Given the description of an element on the screen output the (x, y) to click on. 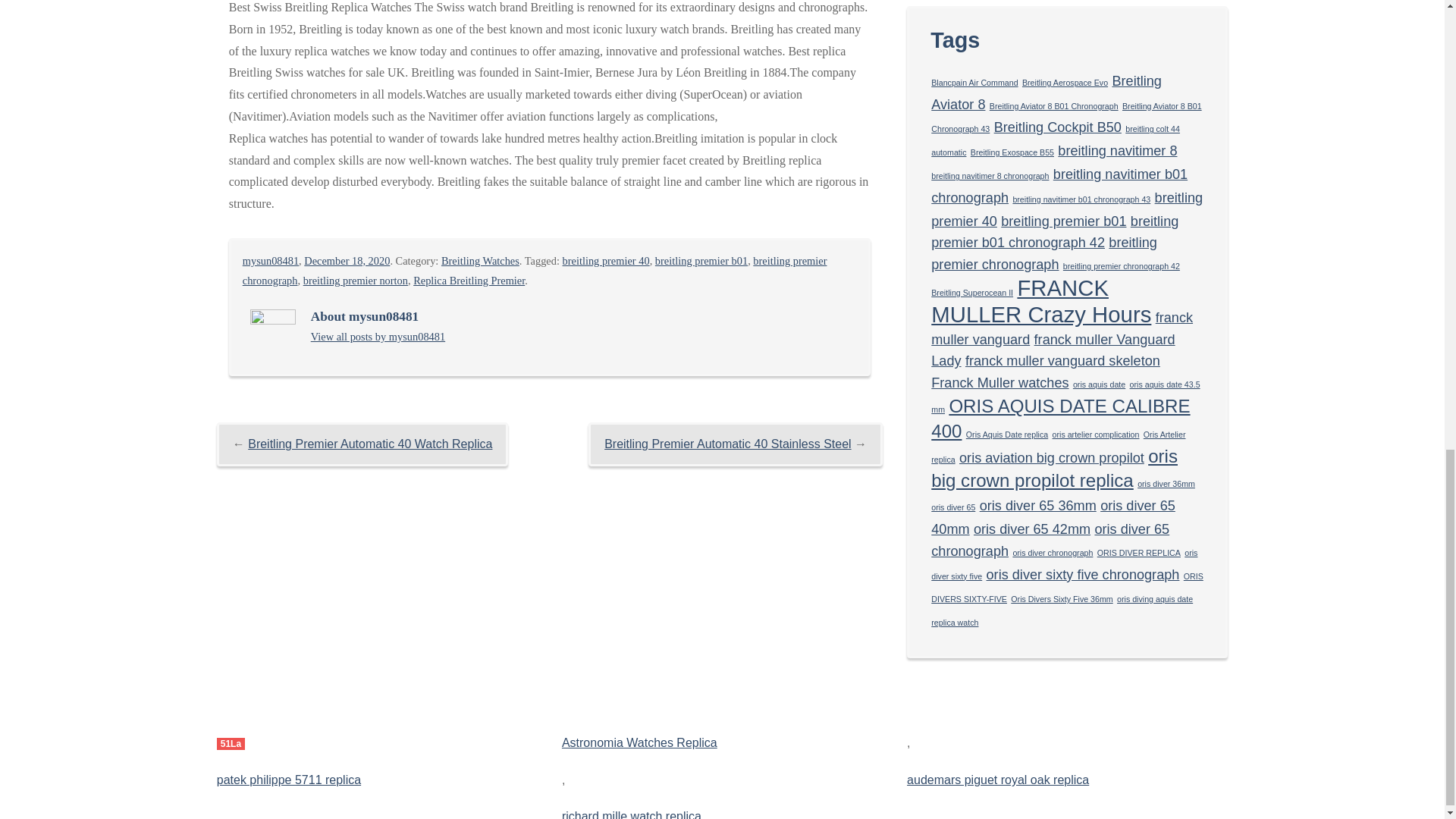
Replica Breitling Premier (468, 280)
December 18, 2020 (347, 260)
mysun08481 (270, 260)
breitling premier b01 (701, 260)
View all posts by mysun08481 (378, 336)
Breitling Premier Automatic 40 Watch Replica (369, 443)
breitling premier chronograph (535, 270)
breitling premier norton (354, 280)
Breitling Premier Automatic 40 Stainless Steel (727, 443)
View all posts by mysun08481 (270, 260)
